Given the description of an element on the screen output the (x, y) to click on. 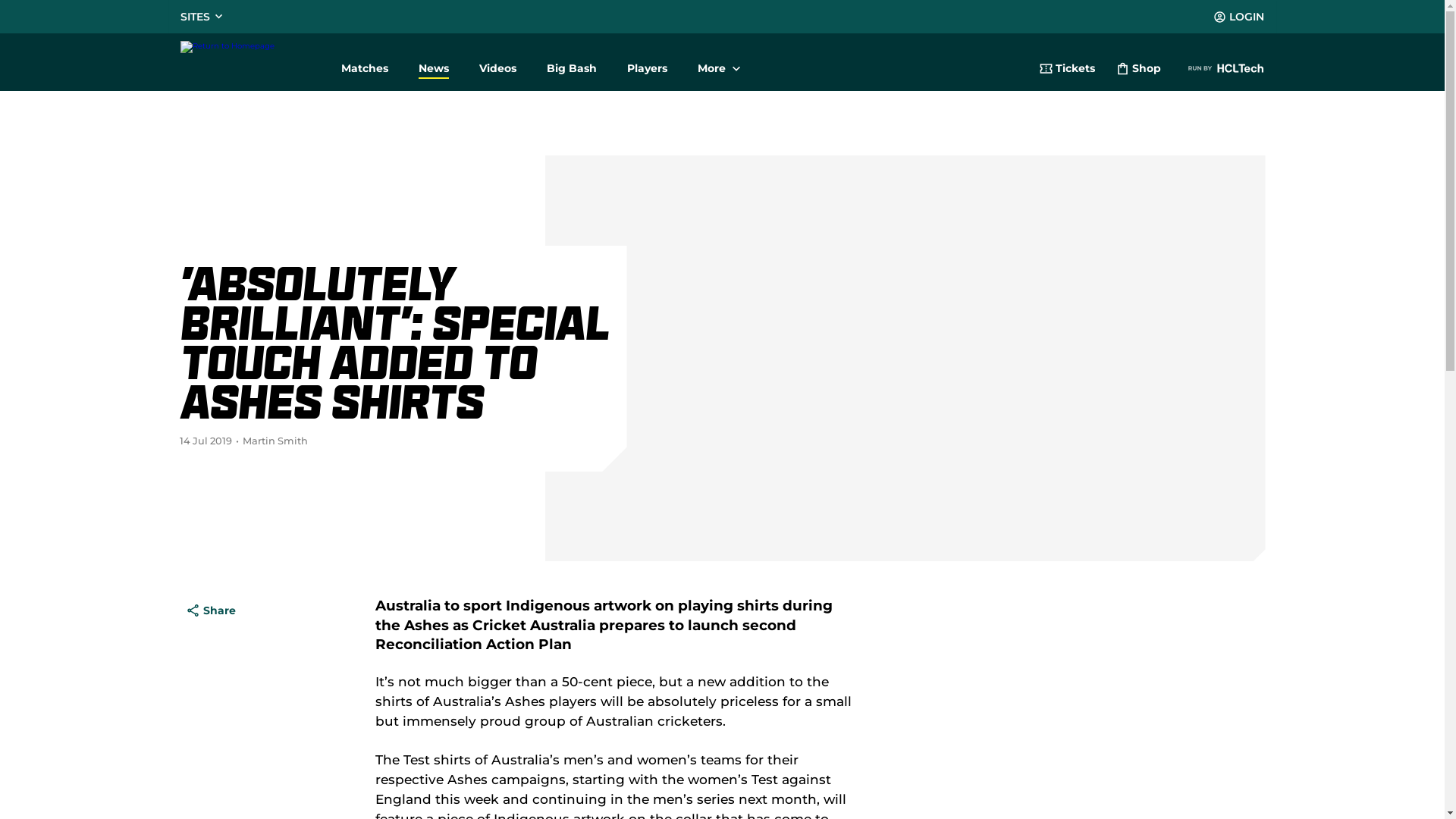
Videos Element type: text (497, 62)
Matches Element type: text (364, 62)
Return to Homepage Element type: hover (248, 62)
Share Element type: text (210, 610)
News Element type: text (433, 62)
Shop
(opens new window) Element type: text (1138, 70)
Players Element type: text (646, 62)
More Element type: text (718, 62)
Big Bash Element type: text (570, 62)
Tickets Element type: text (1066, 70)
